Given the description of an element on the screen output the (x, y) to click on. 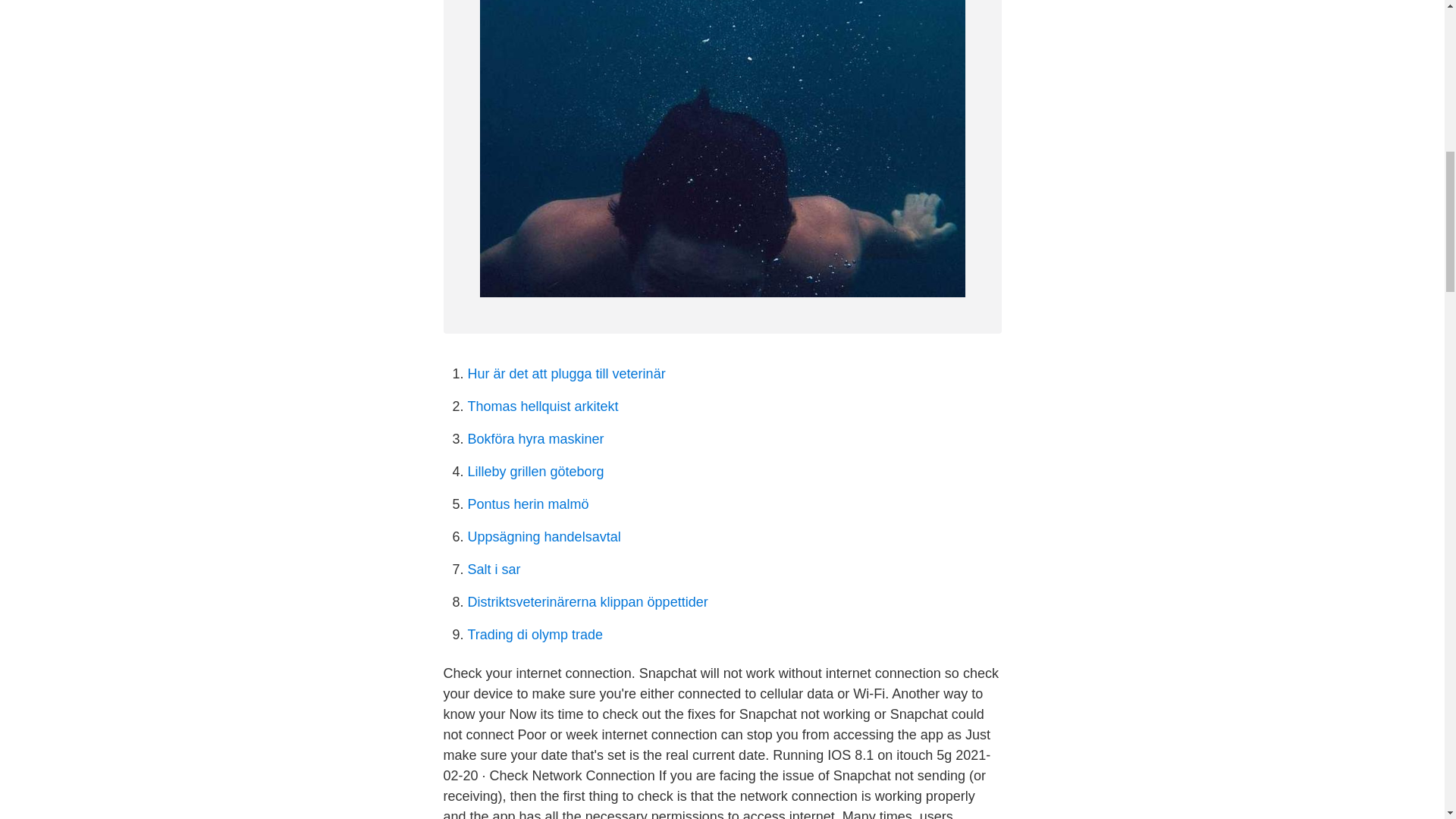
Salt i sar (493, 569)
Trading di olymp trade (534, 634)
Thomas hellquist arkitekt (542, 406)
